Given the description of an element on the screen output the (x, y) to click on. 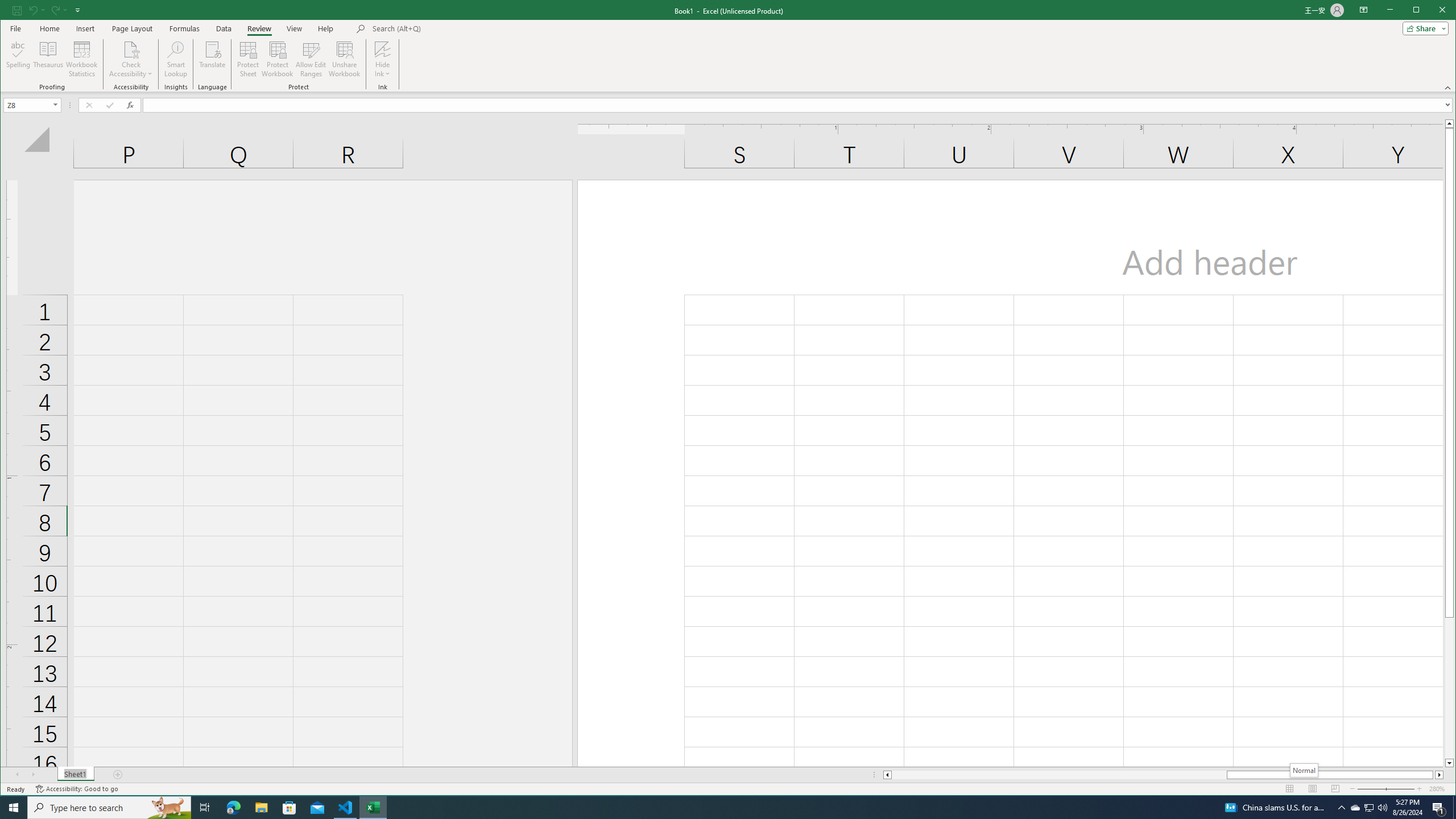
Spelling... (18, 59)
Thesaurus... (48, 59)
Type here to search (108, 807)
Excel - 1 running window (373, 807)
Unshare Workbook (344, 59)
Task View (204, 807)
Start (13, 807)
